Given the description of an element on the screen output the (x, y) to click on. 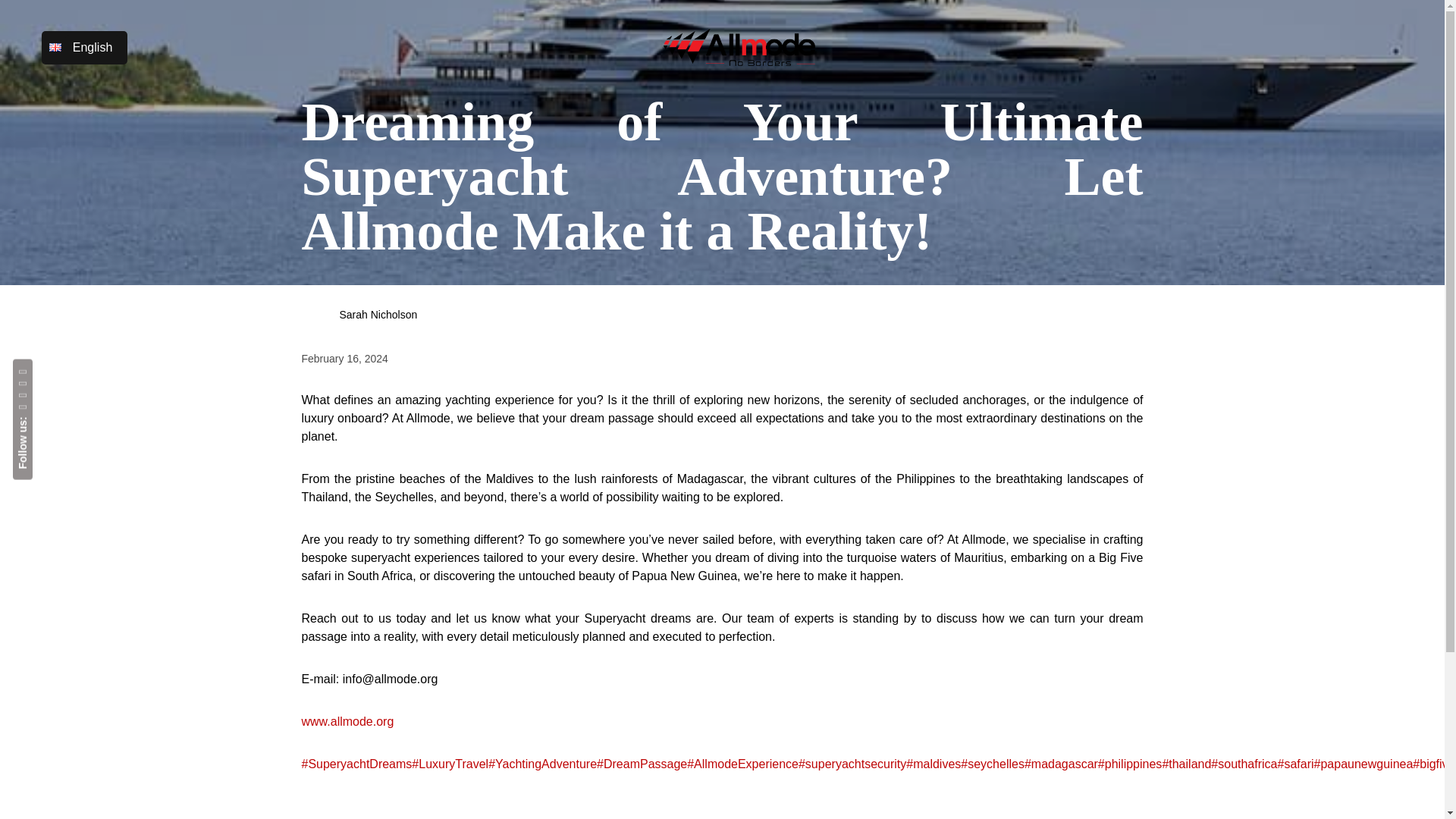
Sarah Nicholson (359, 315)
www.allmode.org (347, 721)
English (85, 47)
